Given the description of an element on the screen output the (x, y) to click on. 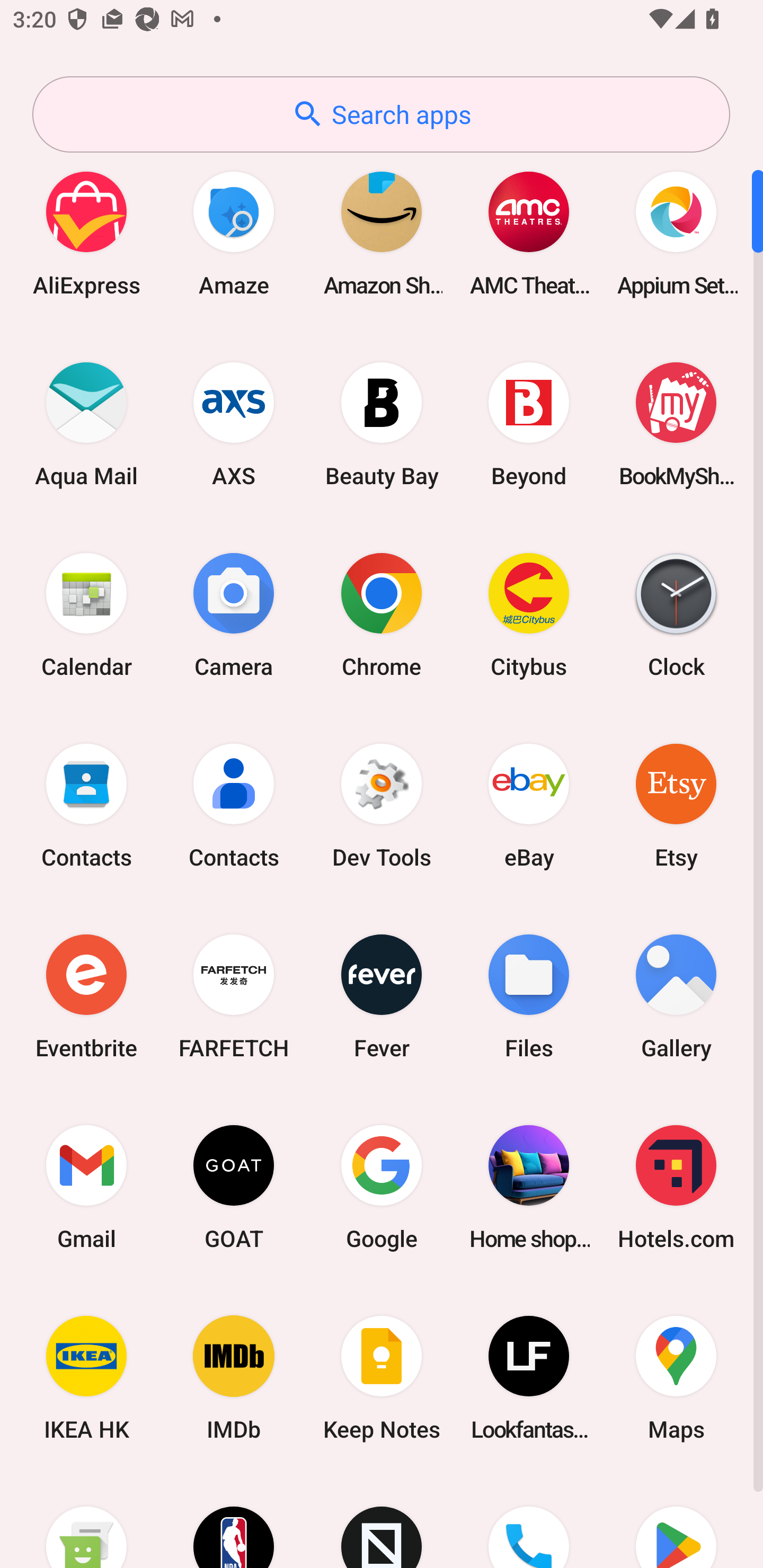
  Search apps (381, 114)
AliExpress (86, 233)
Amaze (233, 233)
Amazon Shopping (381, 233)
AMC Theatres (528, 233)
Appium Settings (676, 233)
Aqua Mail (86, 424)
AXS (233, 424)
Beauty Bay (381, 424)
Beyond (528, 424)
BookMyShow (676, 424)
Calendar (86, 614)
Camera (233, 614)
Chrome (381, 614)
Citybus (528, 614)
Clock (676, 614)
Contacts (86, 805)
Contacts (233, 805)
Dev Tools (381, 805)
eBay (528, 805)
Etsy (676, 805)
Eventbrite (86, 996)
FARFETCH (233, 996)
Fever (381, 996)
Files (528, 996)
Gallery (676, 996)
Gmail (86, 1186)
GOAT (233, 1186)
Google (381, 1186)
Home shopping (528, 1186)
Hotels.com (676, 1186)
IKEA HK (86, 1377)
IMDb (233, 1377)
Keep Notes (381, 1377)
Lookfantastic (528, 1377)
Maps (676, 1377)
